Given the description of an element on the screen output the (x, y) to click on. 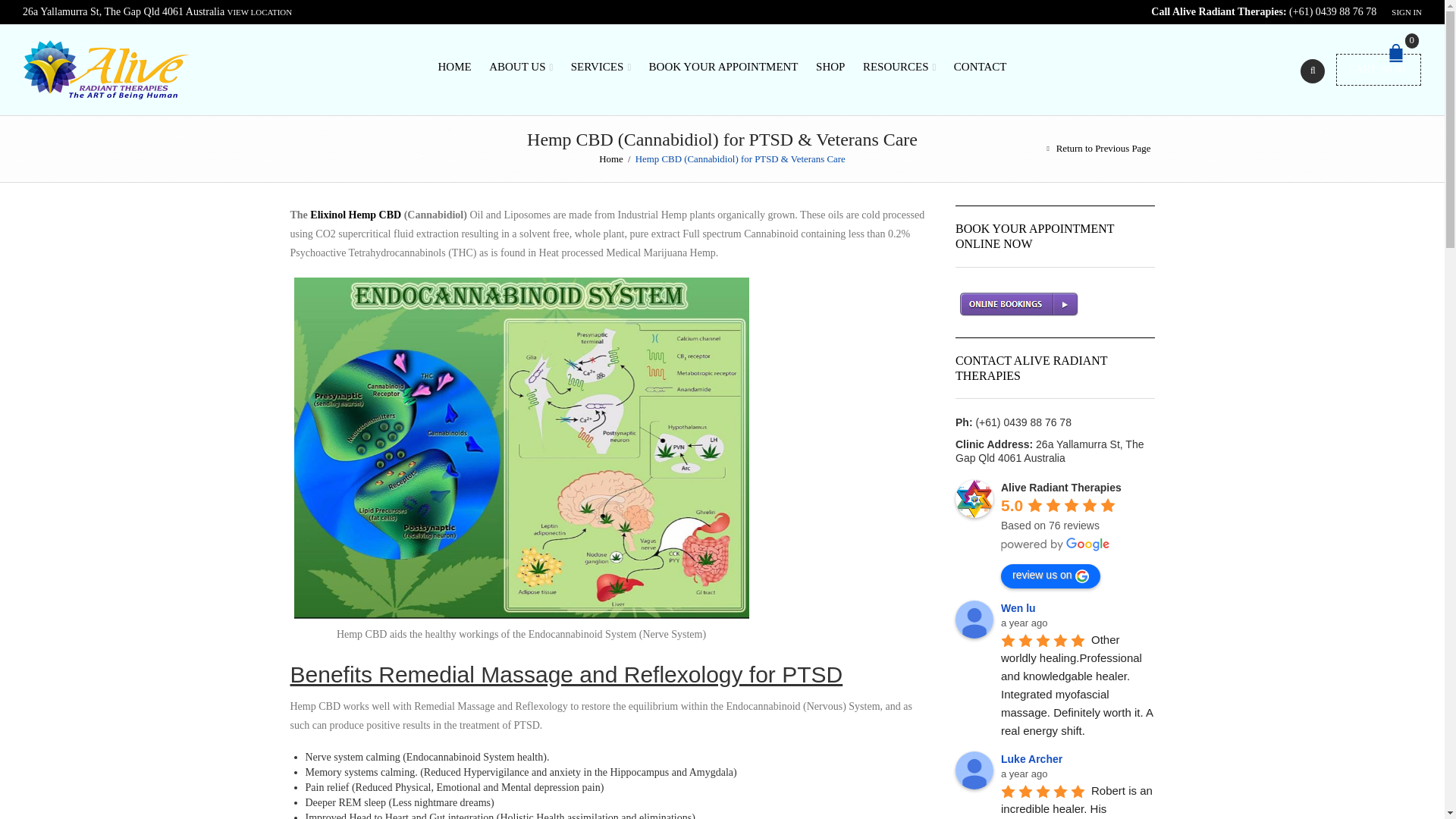
Wen lu (973, 619)
Alive Radiant Therapies (973, 498)
Luke Archer (973, 770)
powered by Google (1055, 544)
